Given the description of an element on the screen output the (x, y) to click on. 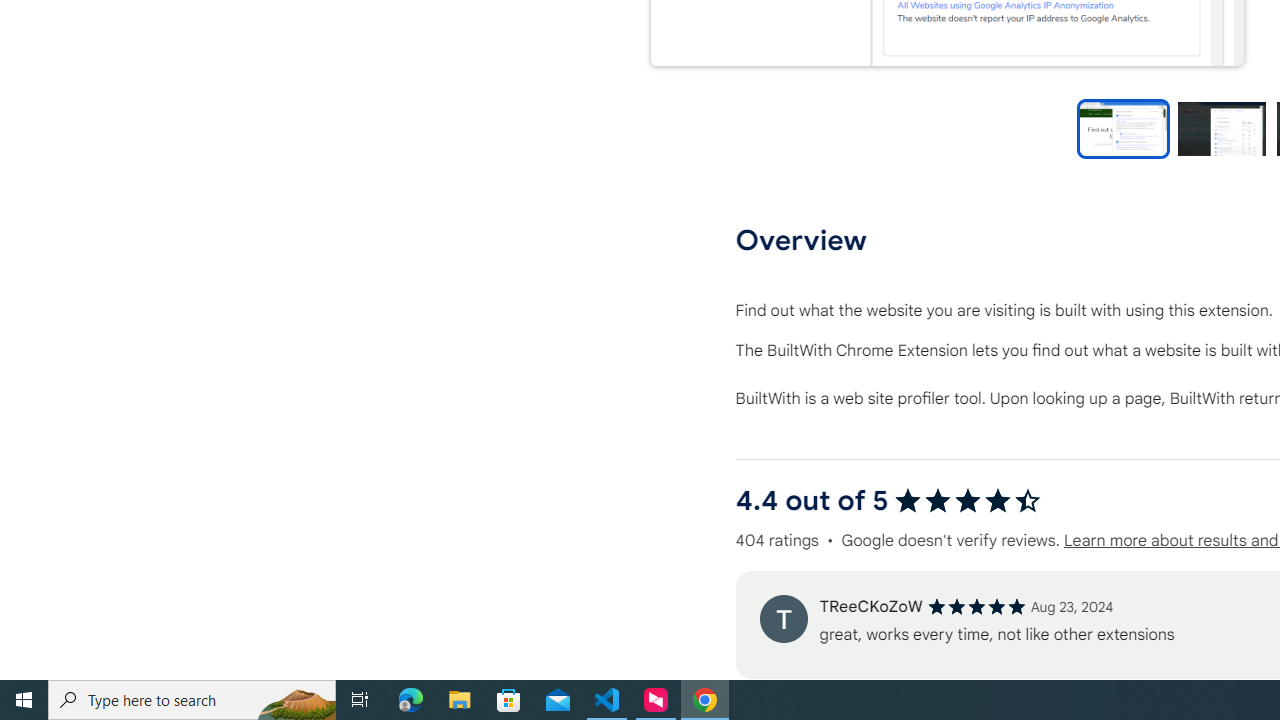
5 out of 5 stars (975, 606)
Review's profile picture (783, 618)
4.4 out of 5 stars (967, 500)
Preview slide 2 (1221, 128)
Preview slide 1 (1123, 128)
